Given the description of an element on the screen output the (x, y) to click on. 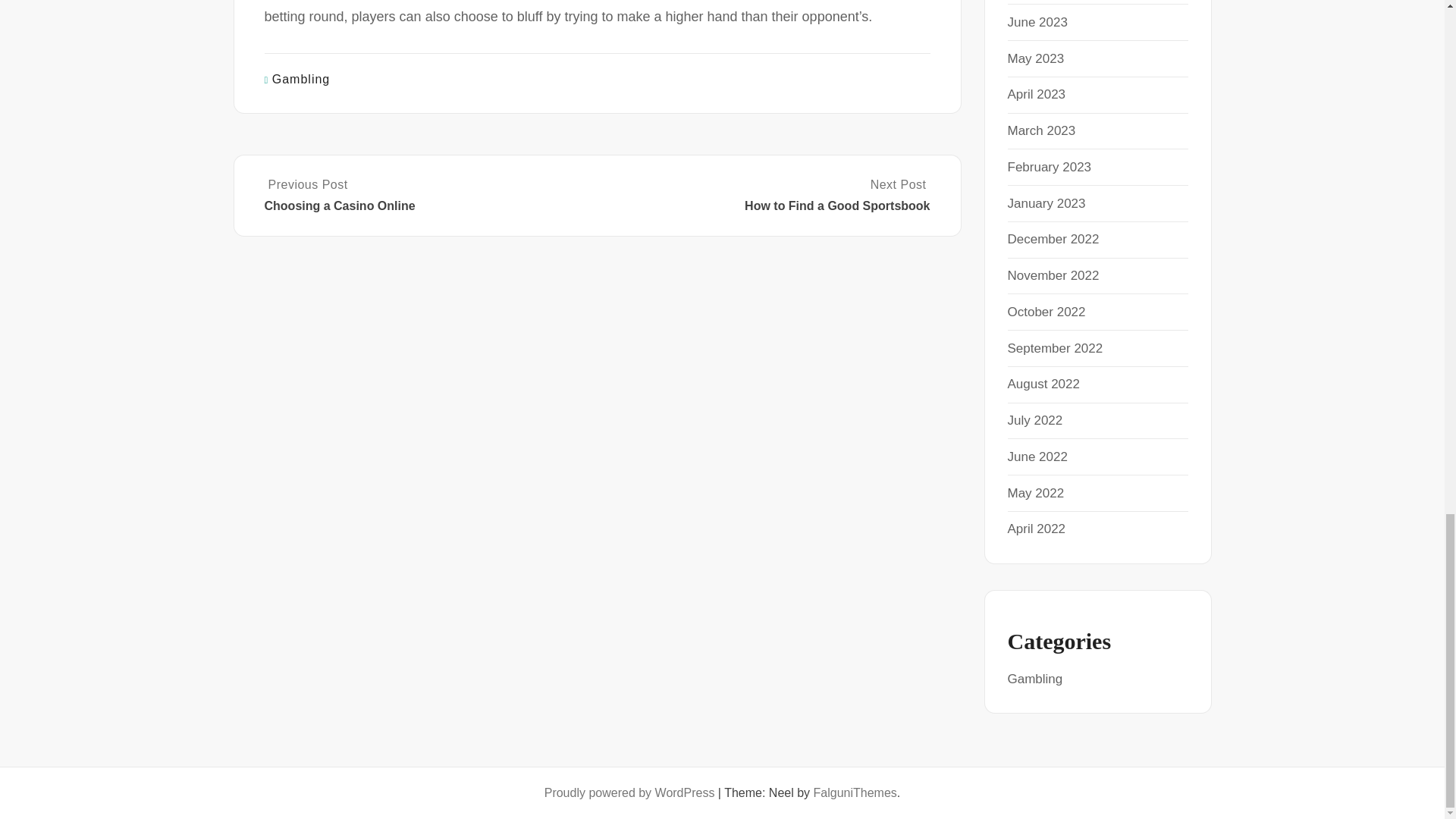
February 2023 (1048, 166)
Gambling (301, 78)
June 2023 (1037, 22)
March 2023 (1041, 130)
December 2022 (1053, 238)
May 2023 (1035, 58)
April 2023 (1036, 93)
January 2023 (1045, 203)
November 2022 (1053, 275)
